Given the description of an element on the screen output the (x, y) to click on. 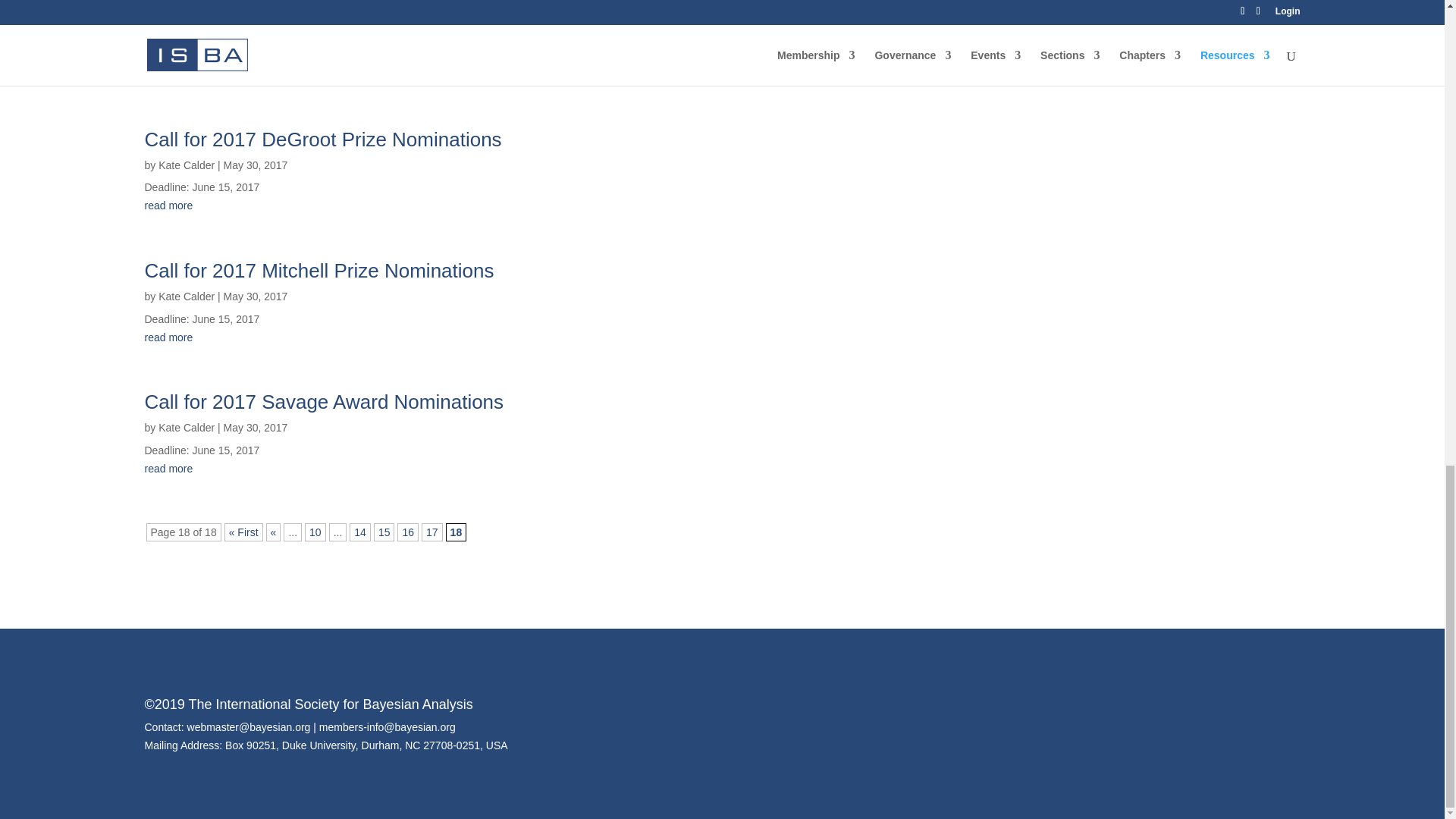
Posts by Kate Calder (186, 296)
Posts by Kate Calder (186, 164)
Page 10 (315, 532)
Page 16 (408, 532)
Posts by Kate Calder (186, 33)
Page 15 (384, 532)
Page 14 (360, 532)
Posts by Kate Calder (186, 427)
Page 17 (432, 532)
